Given the description of an element on the screen output the (x, y) to click on. 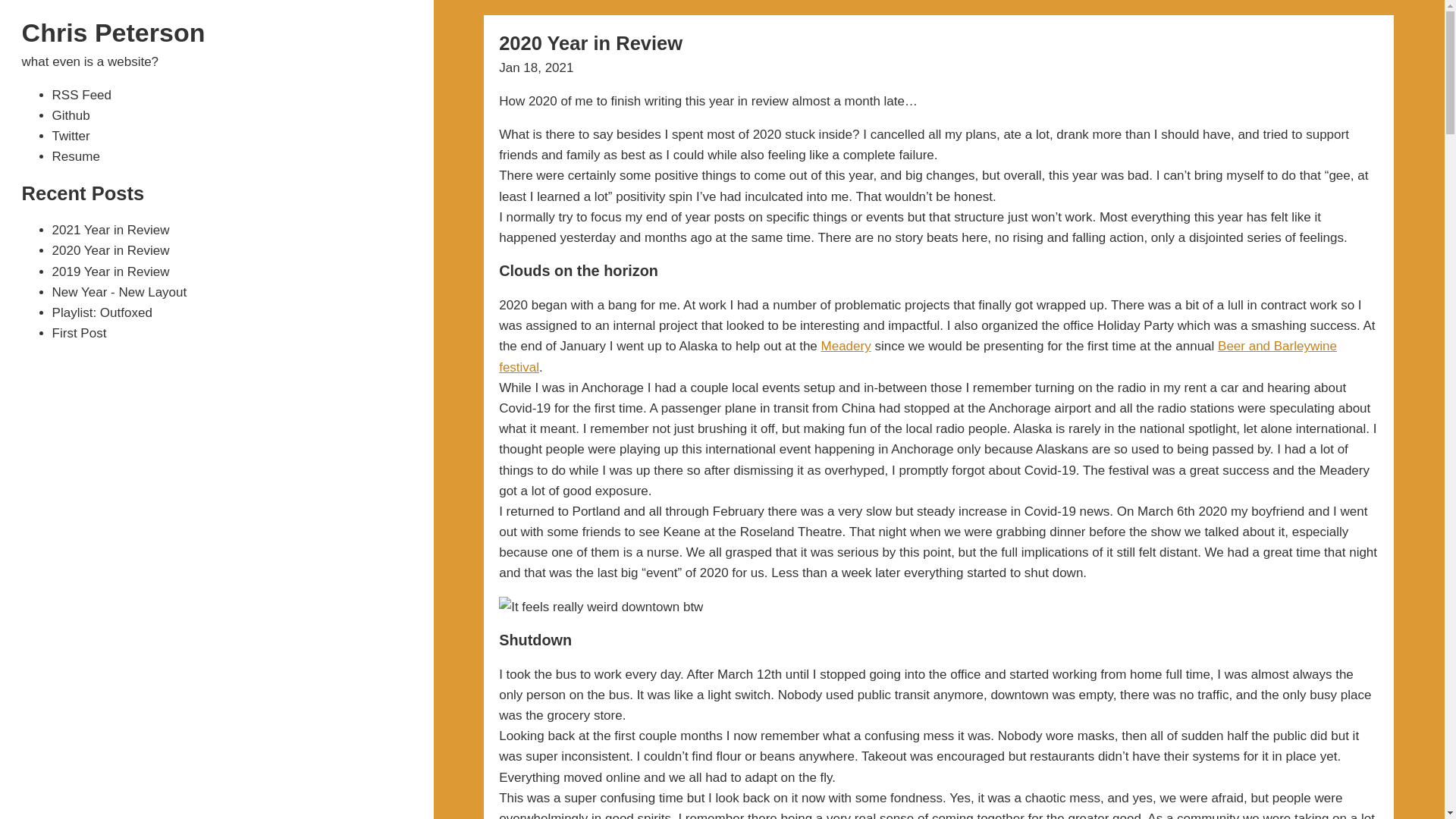
Resume (76, 156)
Two Seasons Meadery (845, 345)
2019 Year in Review (111, 271)
Meadery (845, 345)
Beer and Barleywine festival (917, 356)
First Post (79, 332)
Twitter (71, 135)
RSS Feed (82, 94)
New Year - New Layout (119, 292)
Playlist: Outfoxed (102, 312)
